Given the description of an element on the screen output the (x, y) to click on. 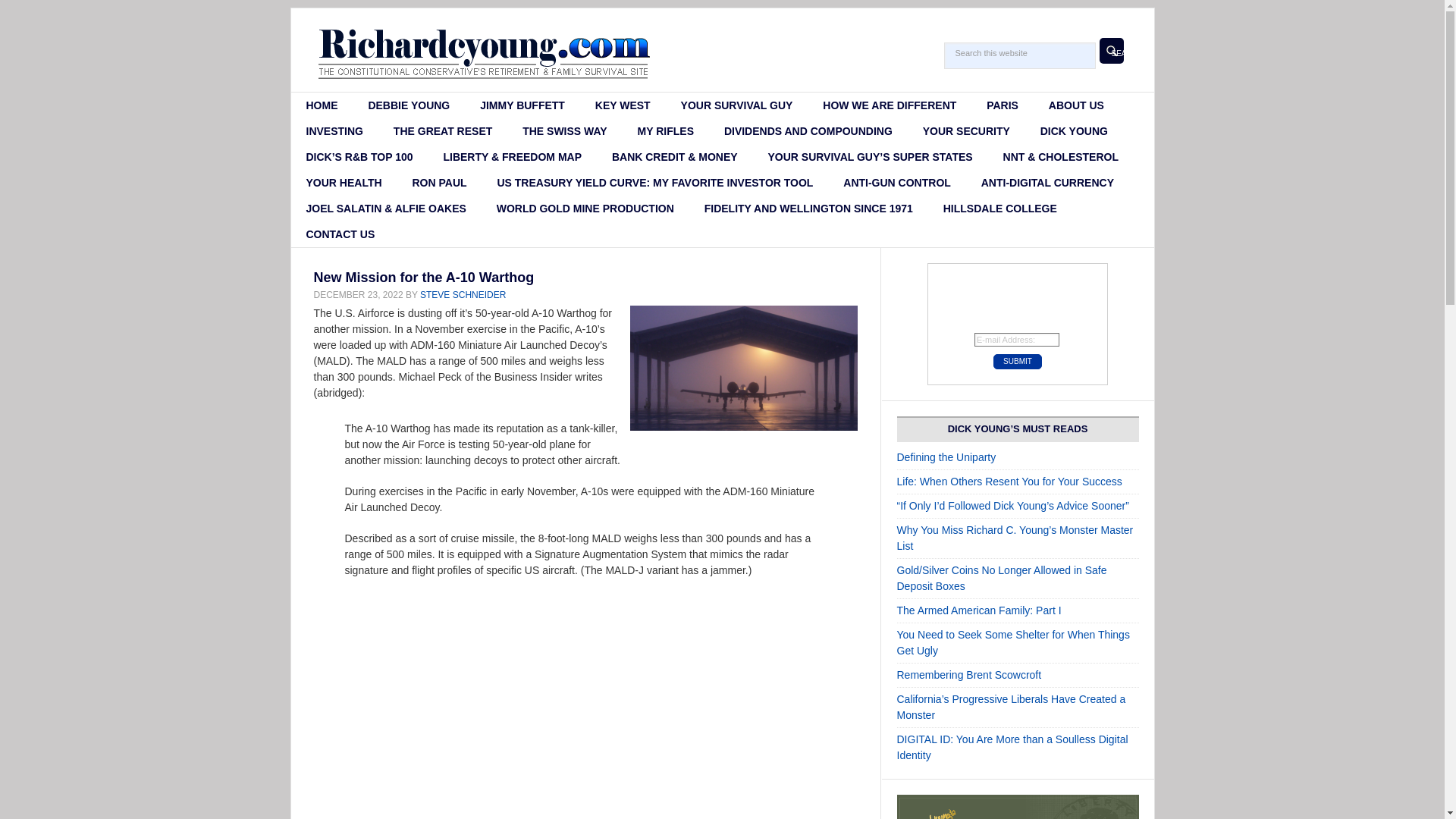
HOME (322, 104)
ANTI-GUN CONTROL (897, 182)
MY RIFLES (666, 130)
CONTACT US (340, 234)
FIDELITY AND WELLINGTON SINCE 1971 (808, 208)
INVESTING (334, 130)
YOUR SECURITY (966, 130)
RON PAUL (438, 182)
E-mail Address: (1016, 339)
KEY WEST (622, 104)
